Given the description of an element on the screen output the (x, y) to click on. 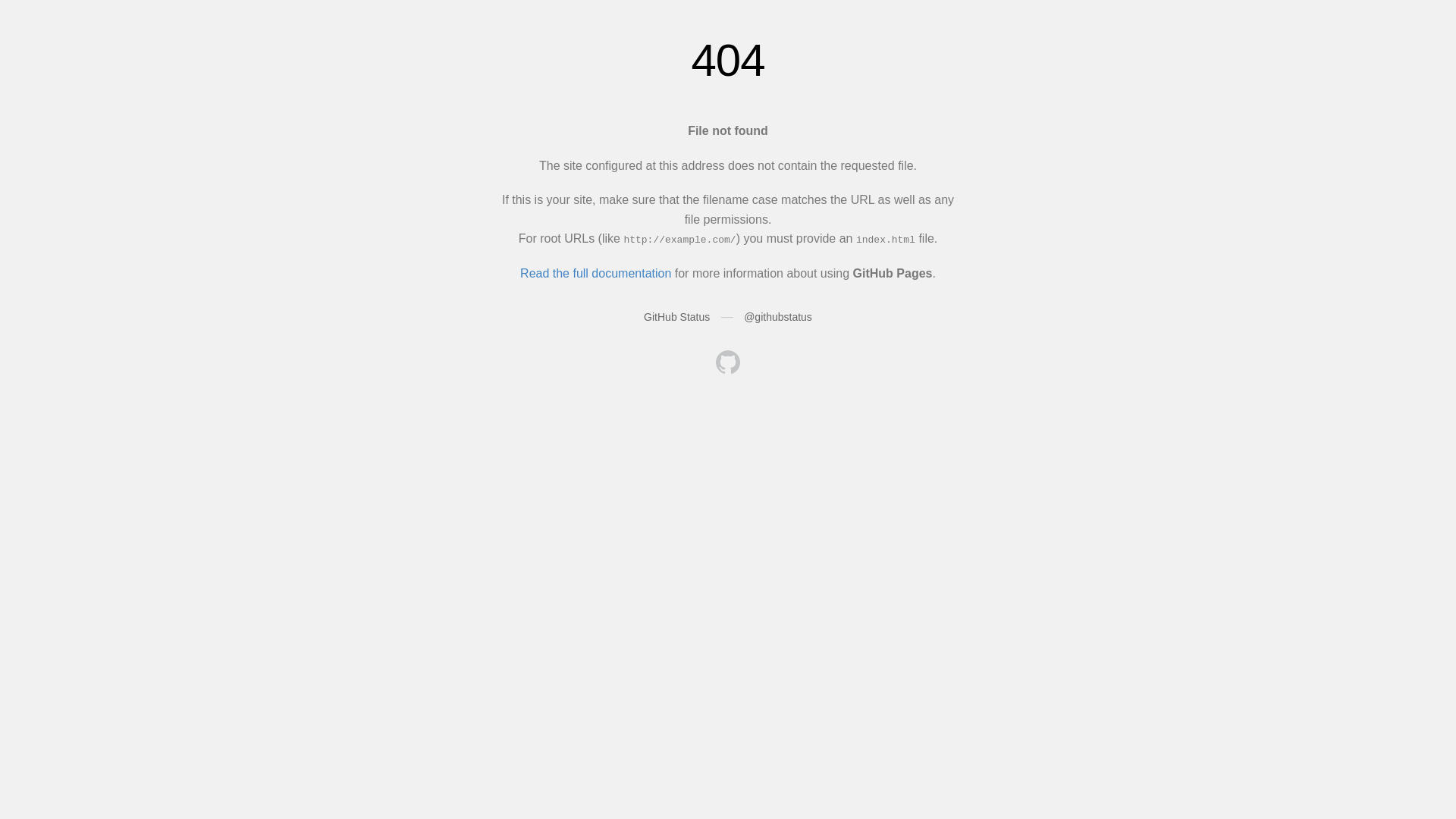
Read the full documentation Element type: text (595, 272)
GitHub Status Element type: text (676, 316)
@githubstatus Element type: text (777, 316)
